Given the description of an element on the screen output the (x, y) to click on. 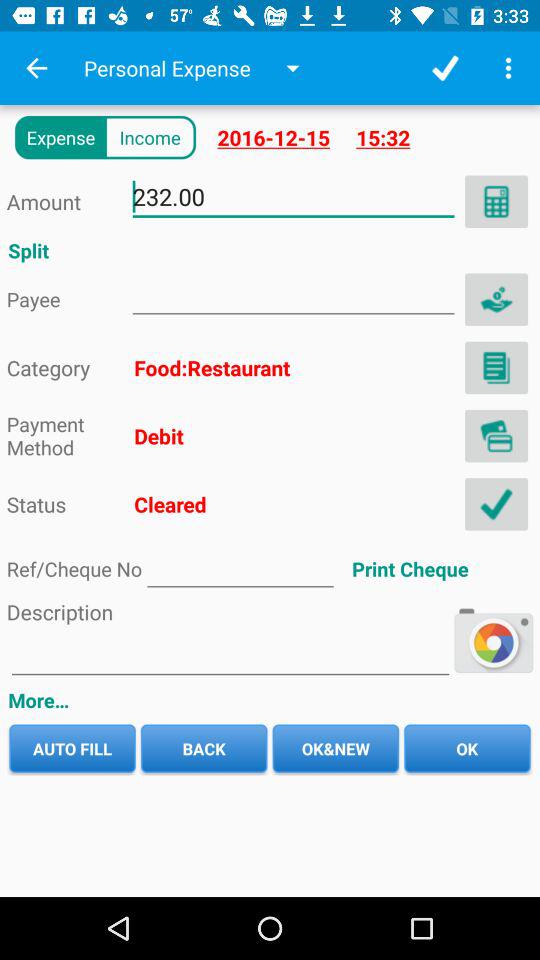
done the option (496, 504)
